Given the description of an element on the screen output the (x, y) to click on. 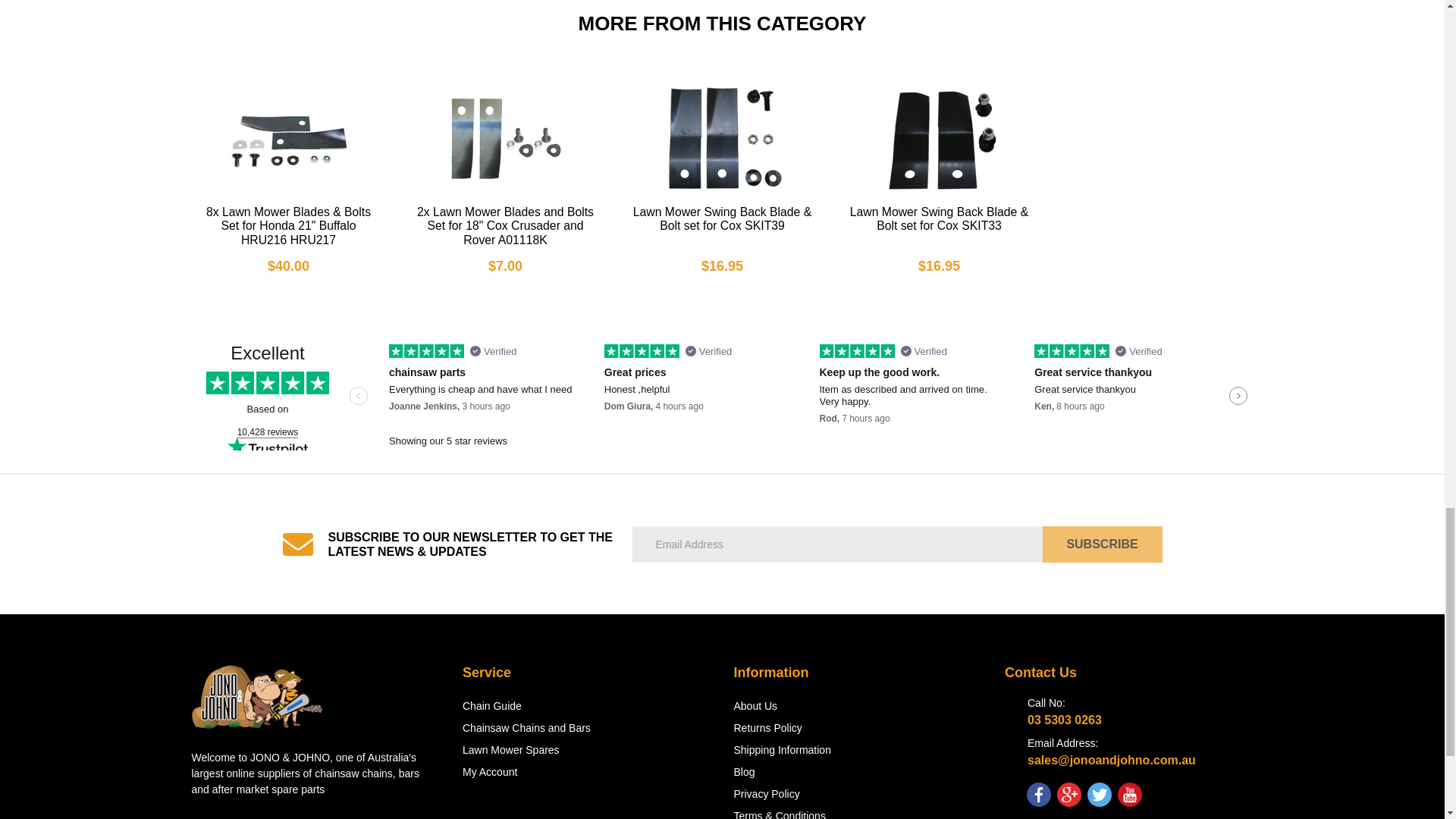
Customer reviews powered by Trustpilot (721, 396)
Subscribe (1101, 544)
